Given the description of an element on the screen output the (x, y) to click on. 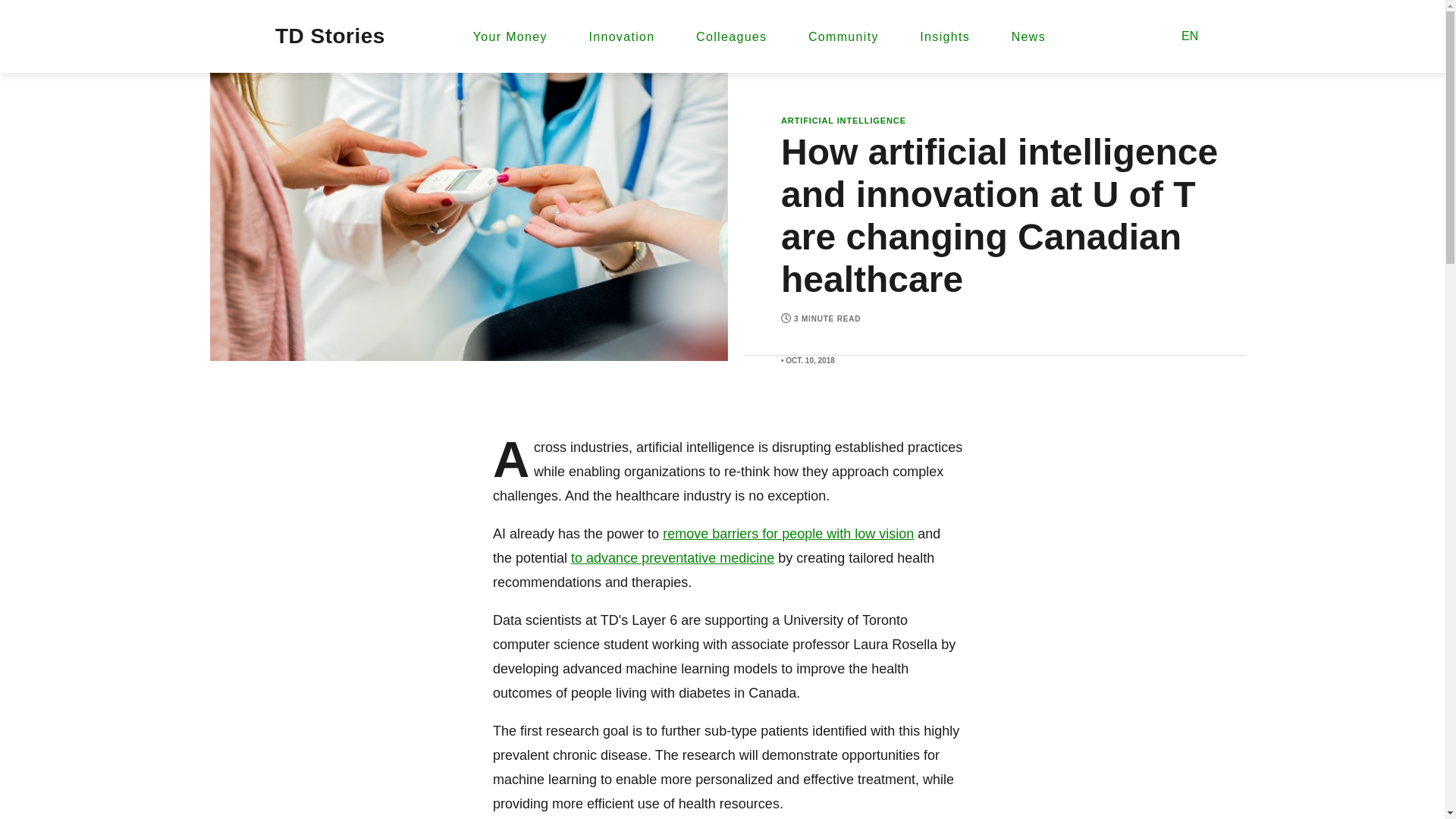
ARTIFICIAL INTELLIGENCE (842, 120)
Colleagues (731, 36)
remove barriers for people with low vision (788, 533)
Insights (944, 36)
Community (843, 36)
Your Money (510, 36)
TD Stories (330, 35)
Innovation (620, 36)
